Given the description of an element on the screen output the (x, y) to click on. 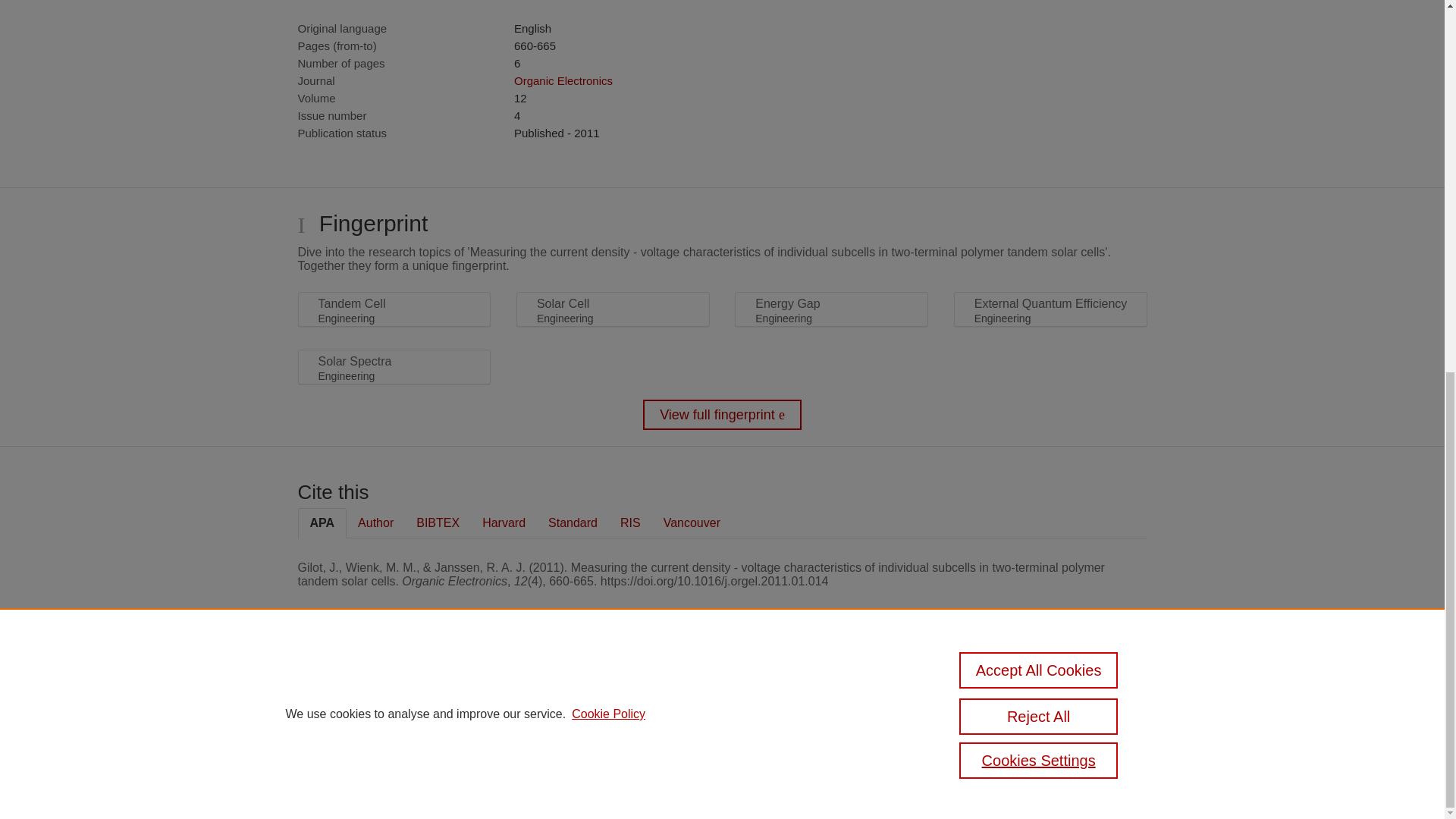
Pure (362, 686)
View full fingerprint (722, 414)
Organic Electronics (562, 80)
